Given the description of an element on the screen output the (x, y) to click on. 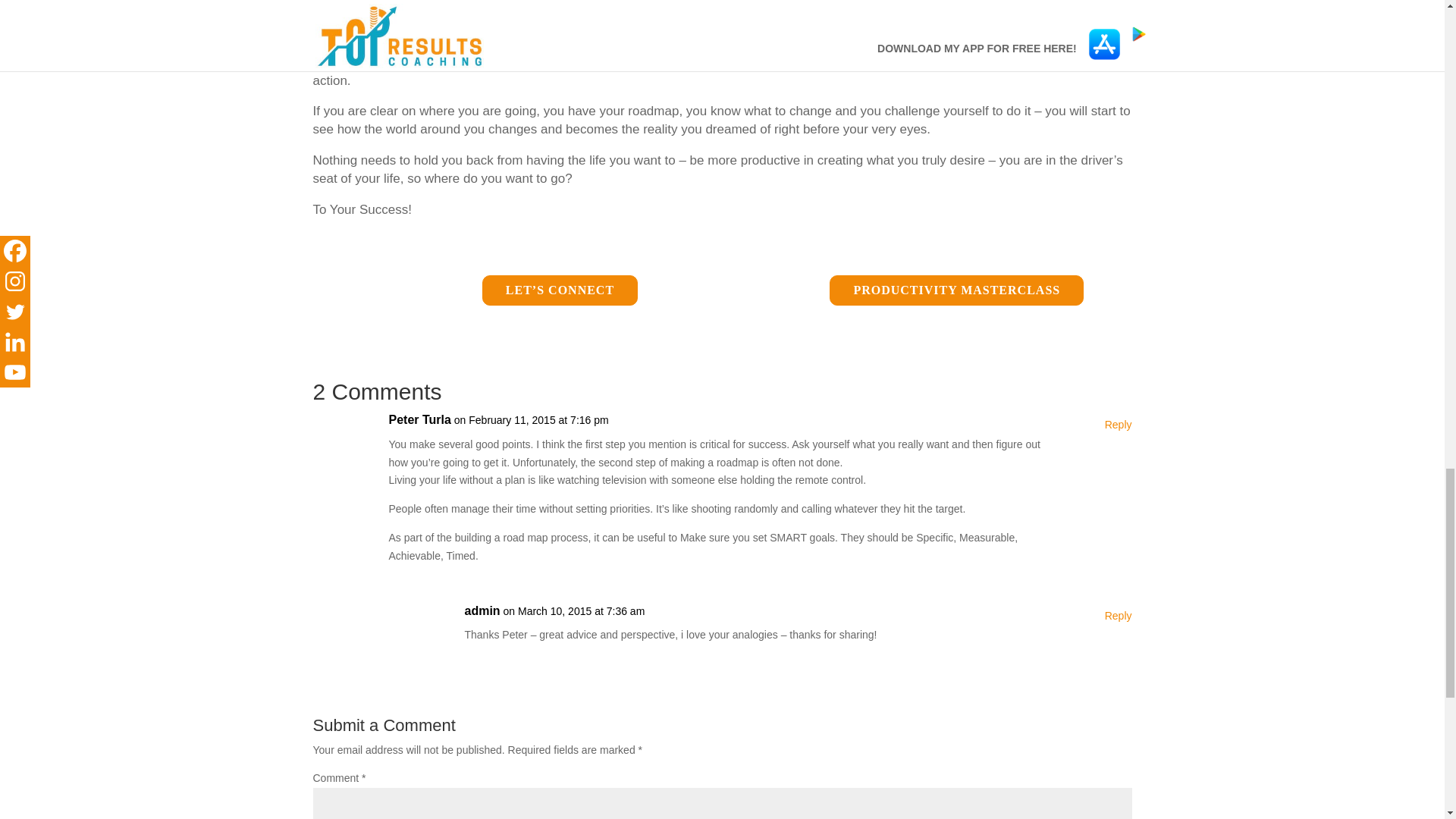
PRODUCTIVITY MASTERCLASS (956, 290)
Peter Turla (418, 420)
Reply (1118, 616)
Then train your brain for success! (885, 31)
your mindset (510, 62)
admin (481, 610)
Reply (1118, 425)
PRODUCTIVITY MASTERCLASS (956, 289)
